Given the description of an element on the screen output the (x, y) to click on. 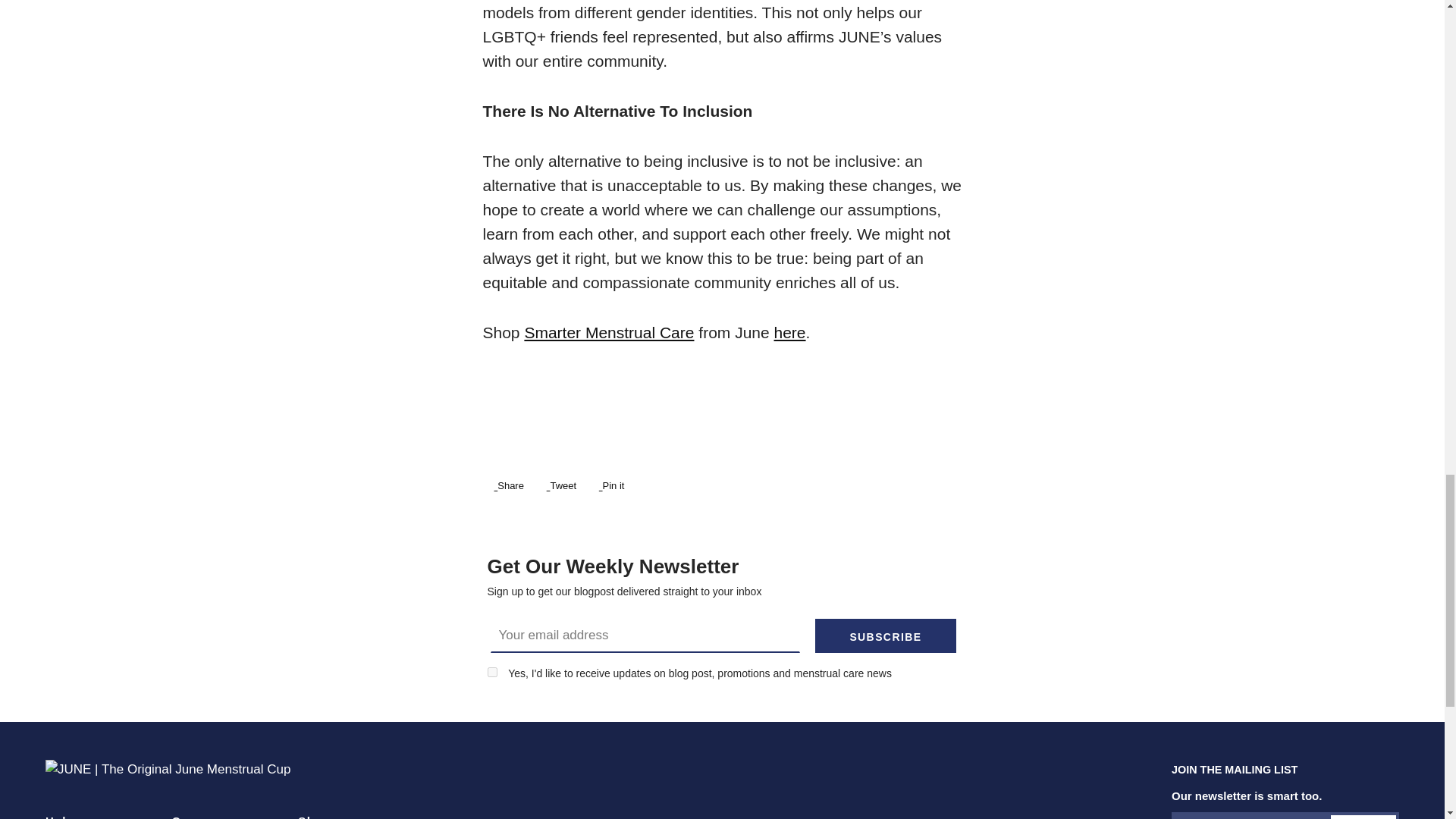
on (559, 486)
Tweet on Twitter (491, 672)
Share on Facebook (559, 486)
Smarter Menstrual Care (506, 486)
Pin on Pinterest (609, 332)
here (609, 486)
SUBSCRIBE (609, 486)
